Given the description of an element on the screen output the (x, y) to click on. 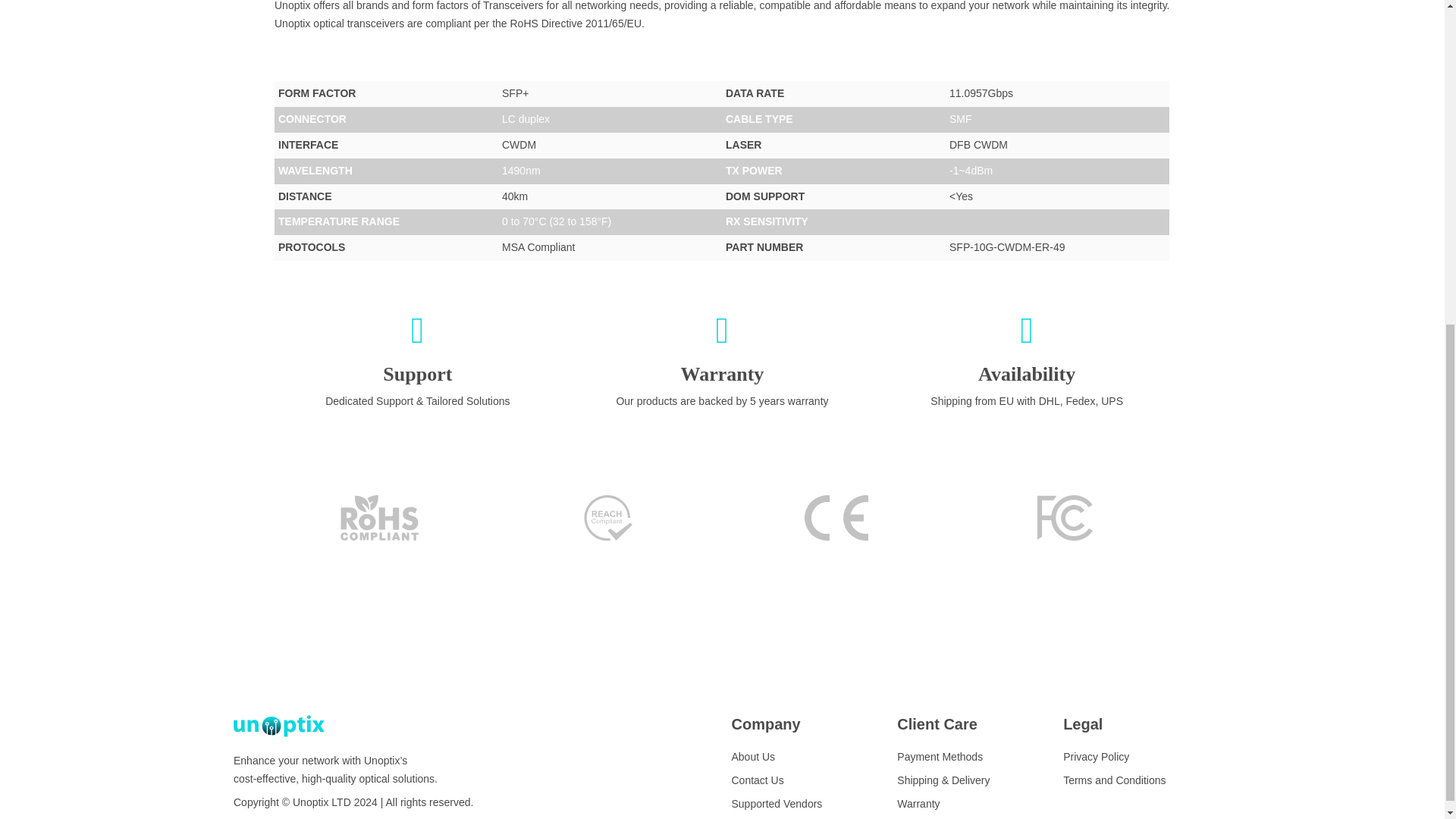
Contact Us (756, 779)
Supported Vendors (776, 803)
Warranty (917, 803)
Terms and Conditions (1114, 779)
Payment Methods (939, 756)
About Us (752, 756)
Privacy Policy (1095, 756)
